Given the description of an element on the screen output the (x, y) to click on. 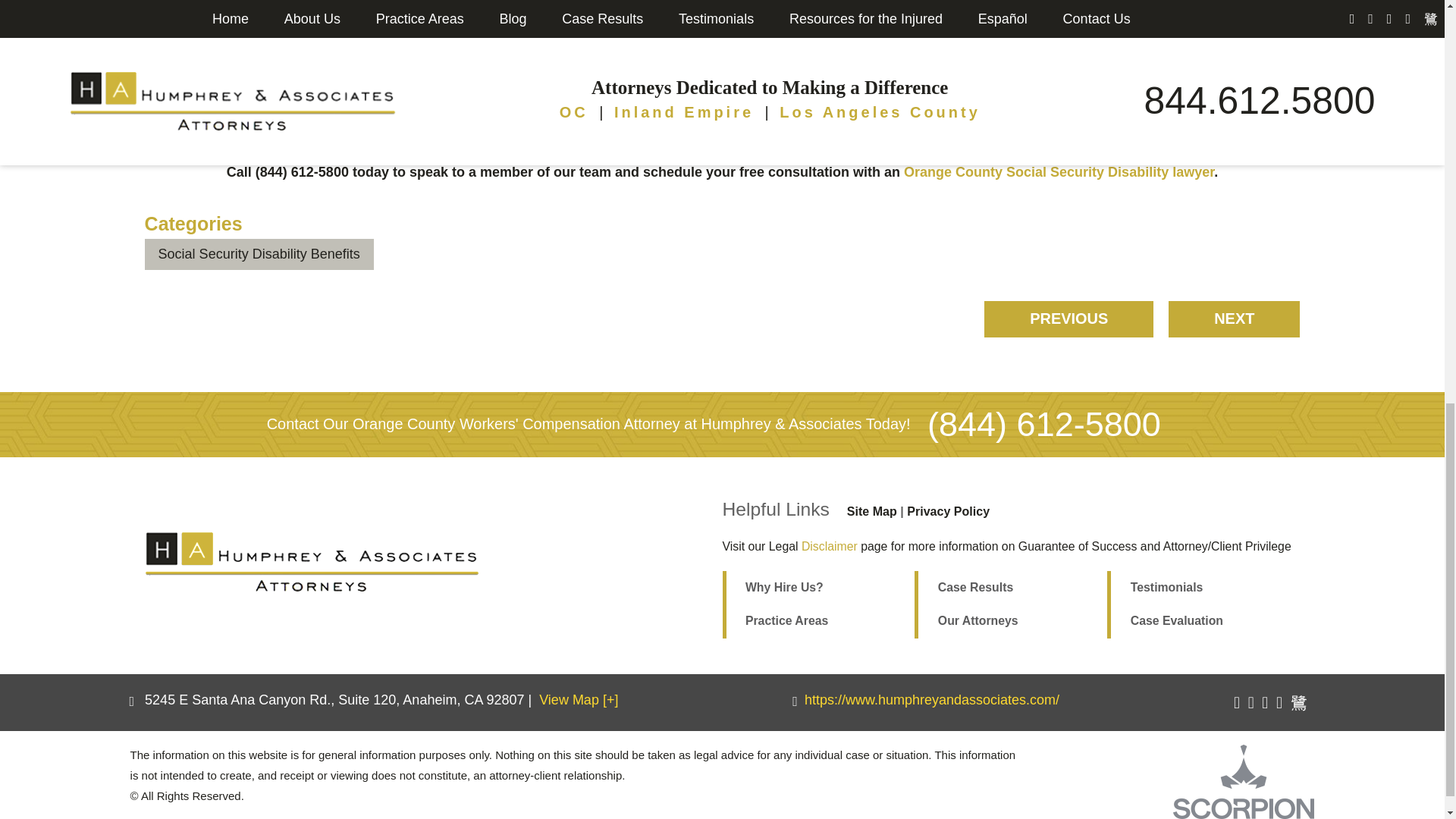
Internet Marketing Experts (1243, 781)
